Given the description of an element on the screen output the (x, y) to click on. 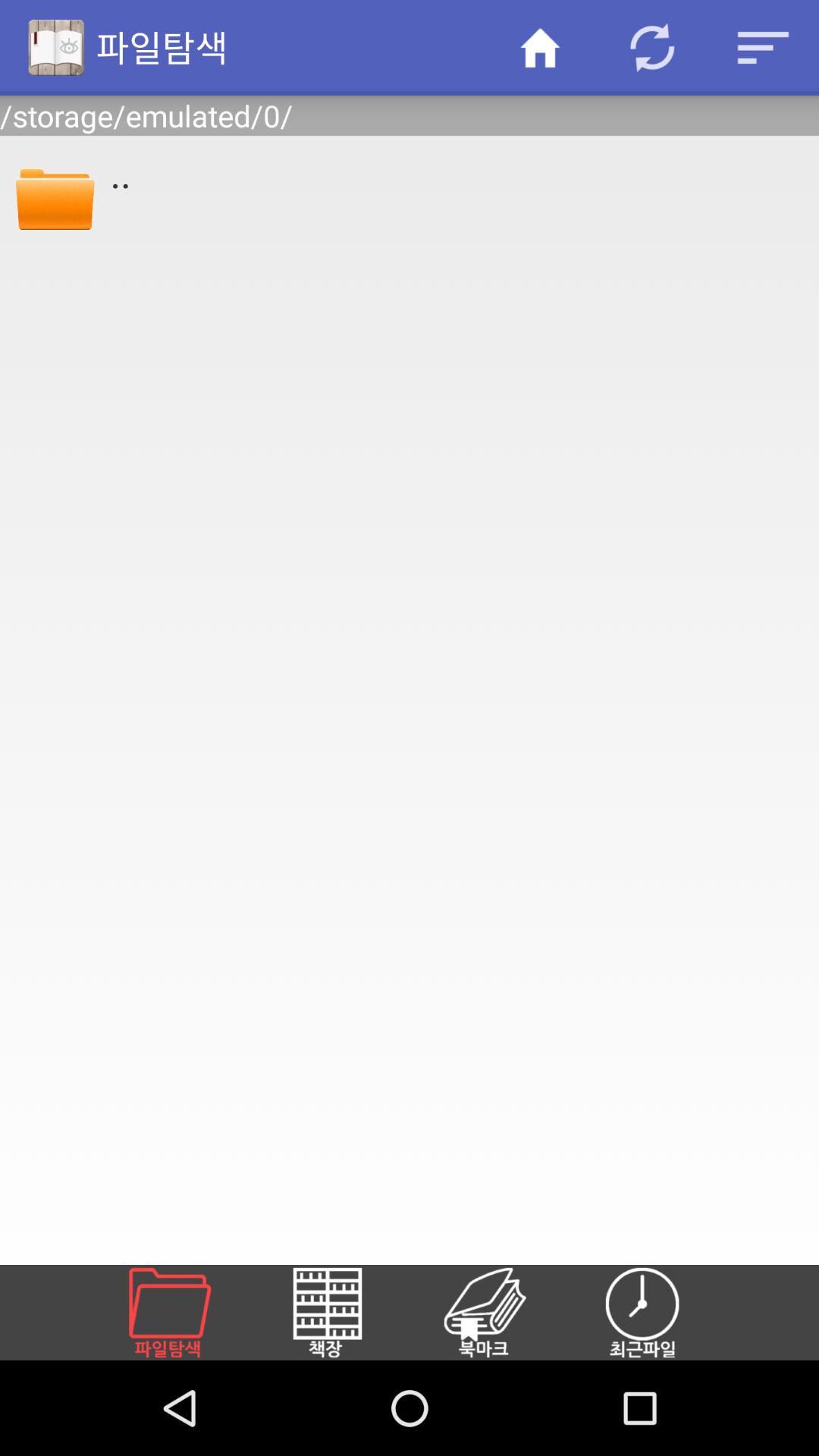
tap icon below .. icon (187, 1312)
